Given the description of an element on the screen output the (x, y) to click on. 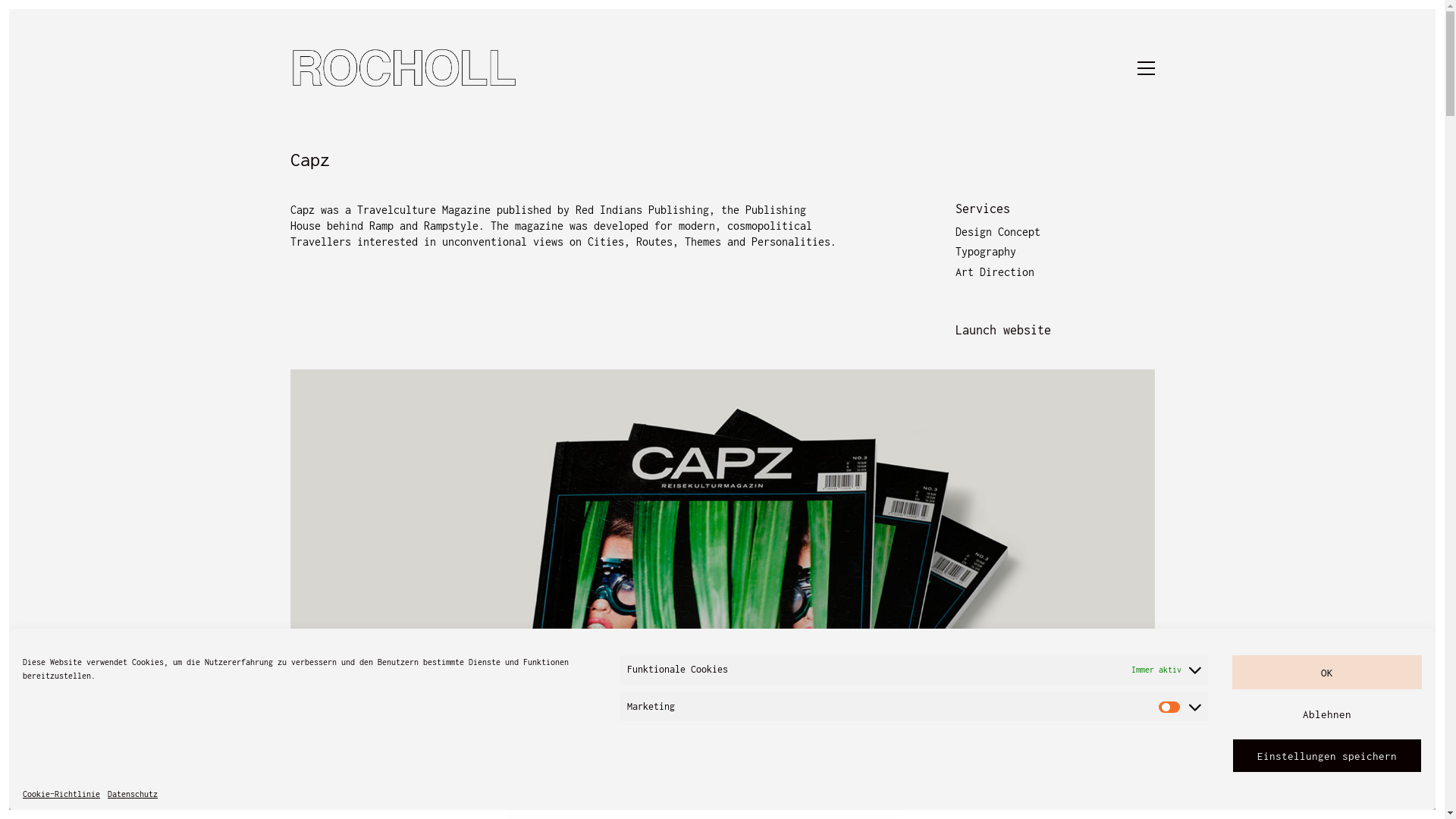
Datenschutz Element type: text (132, 793)
Cookie-Richtlinie Element type: text (61, 793)
Launch website Element type: text (1003, 329)
OK Element type: text (1326, 672)
Einstellungen speichern Element type: text (1326, 755)
Ablehnen Element type: text (1326, 713)
